Given the description of an element on the screen output the (x, y) to click on. 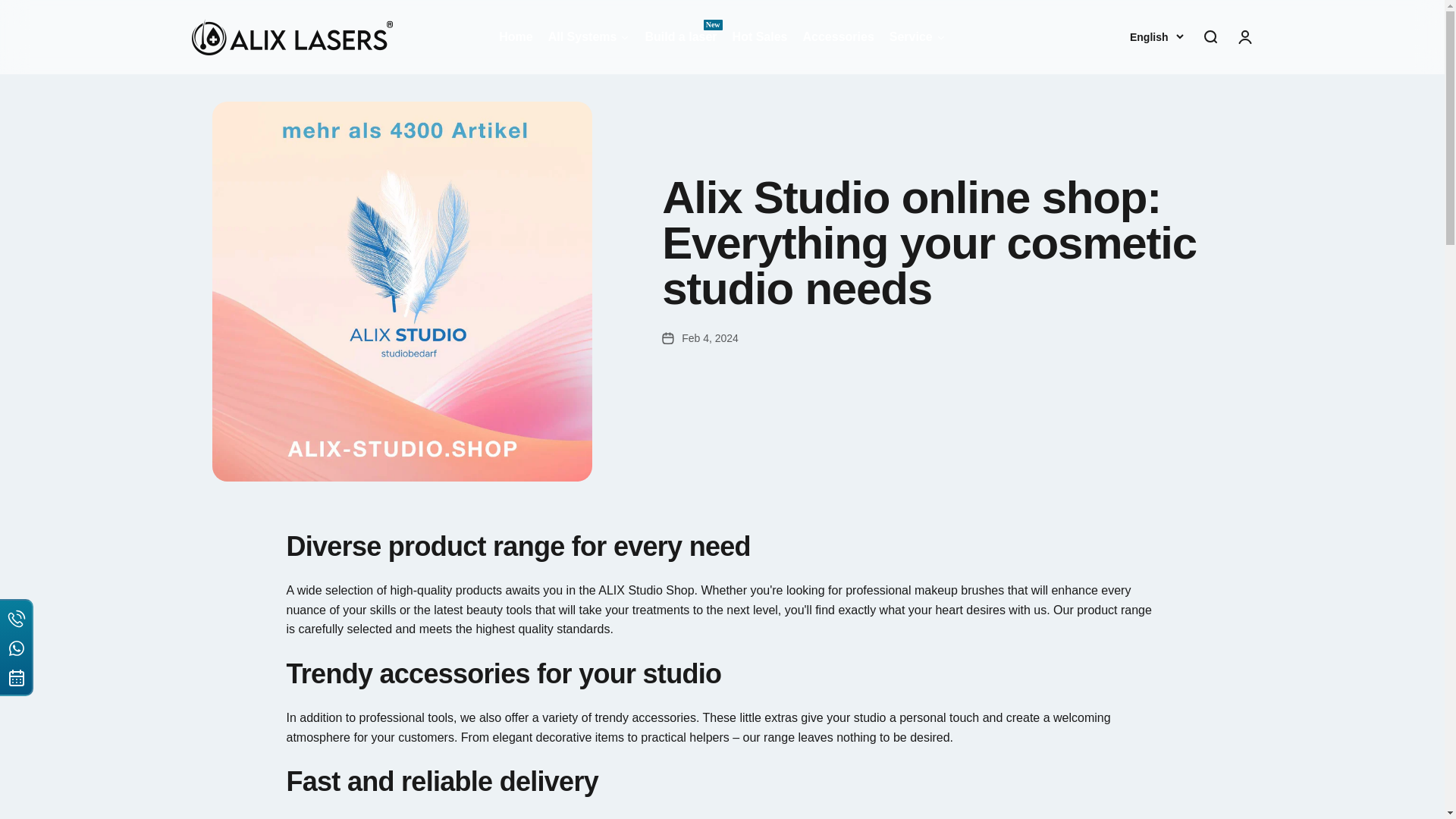
Service (917, 37)
Service (680, 37)
Open search (917, 37)
English (1209, 36)
Accessories (1156, 36)
Home (837, 37)
All Systems (516, 37)
All Systems (588, 37)
Hot Sales (588, 37)
Open account page (759, 37)
Hot Sales (1244, 36)
Accessories (759, 37)
Home (837, 37)
Build a laser (516, 37)
